Given the description of an element on the screen output the (x, y) to click on. 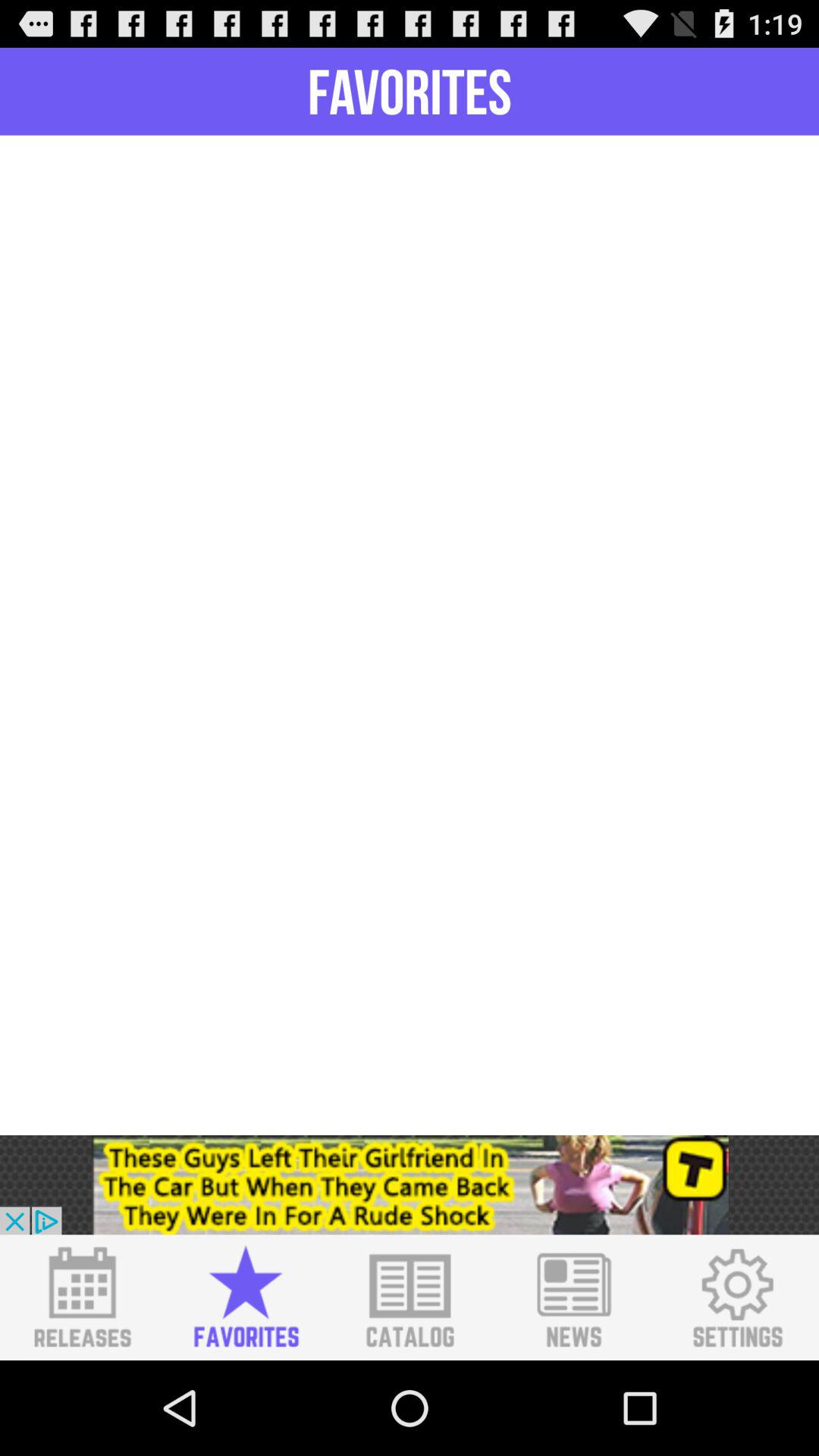
view favorites (245, 1297)
